Given the description of an element on the screen output the (x, y) to click on. 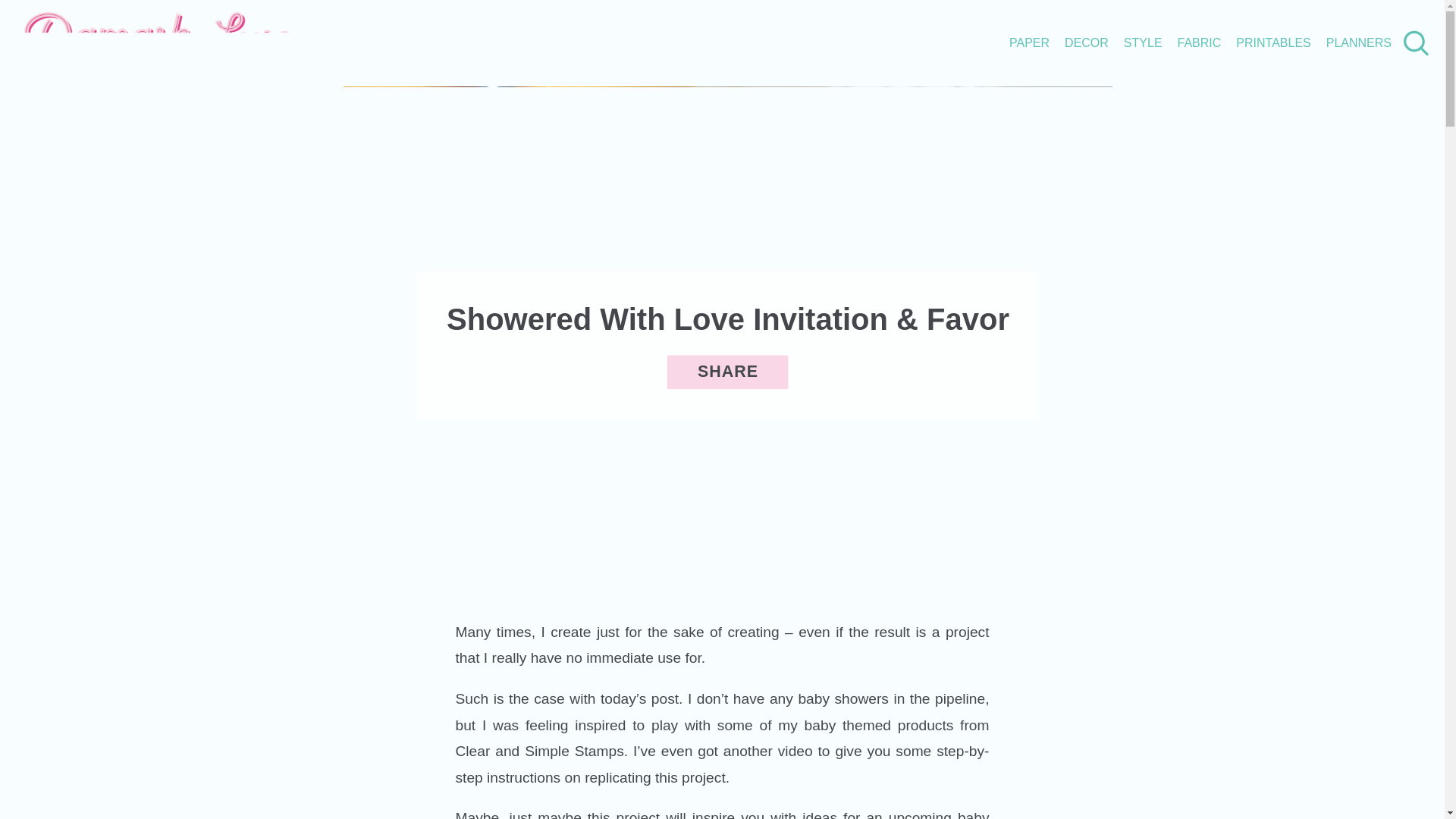
FABRIC (1199, 42)
PLANNERS (1358, 42)
PAPER (1029, 42)
DECOR (1086, 42)
Damask Love (163, 62)
STYLE (1142, 42)
SHARE (727, 371)
PRINTABLES (1273, 42)
